Given the description of an element on the screen output the (x, y) to click on. 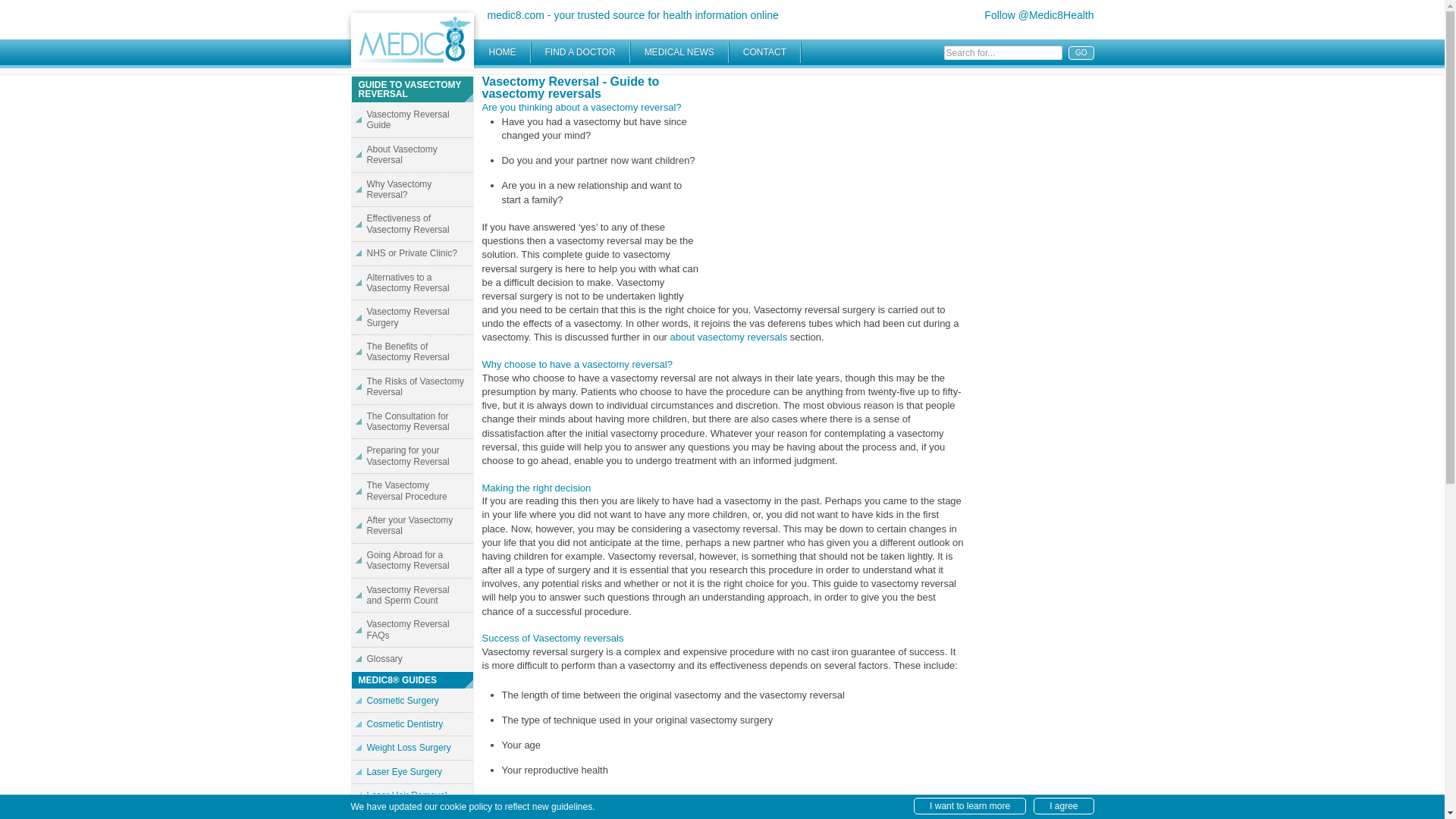
Alternatives to a Vasectomy Reversal (412, 283)
Cosmetic Surgery (412, 699)
The Risks of Vasectomy Reversal (412, 387)
Vasectomy Reversal Guide (412, 120)
The Consultation for Vasectomy Reversal (412, 421)
Cosmetic Dentistry (412, 723)
NHS or Private Clinic? (412, 252)
The Vasectomy Reversal Procedure  (412, 490)
Going Abroad for a Vasectomy Reversal (412, 560)
Search for... (1002, 52)
Weight Loss Surgery (412, 747)
NHS or Private Clinic? (412, 252)
After your Vasectomy Reversal (412, 525)
Effectiveness of Vasectomy Reversal (412, 223)
Vasectomy Reversal and Sperm Count (412, 595)
